Given the description of an element on the screen output the (x, y) to click on. 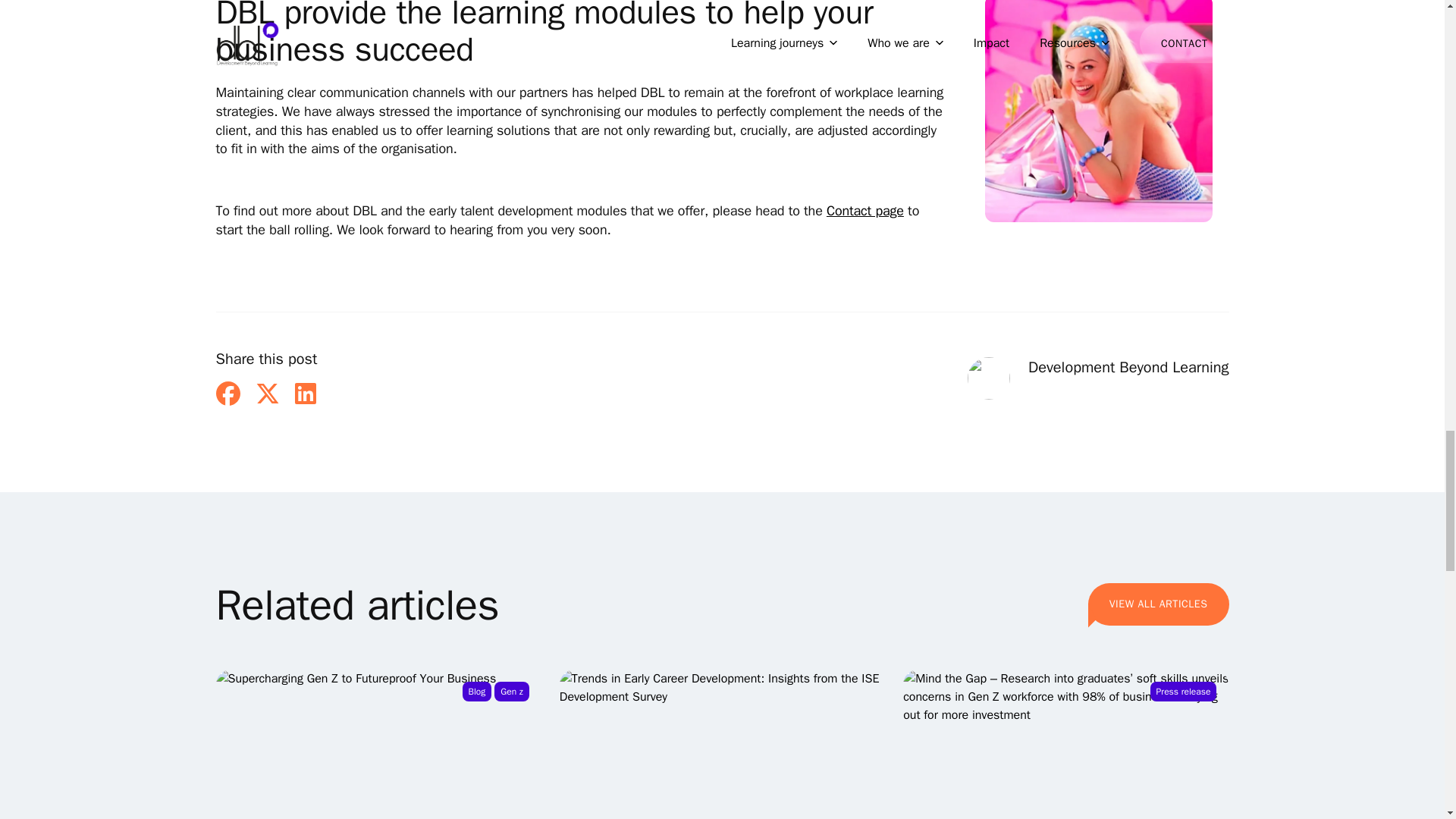
VIEW ALL ARTICLES (1157, 604)
Press release (1065, 744)
share this page on facebook (377, 744)
Contact page (227, 394)
